Given the description of an element on the screen output the (x, y) to click on. 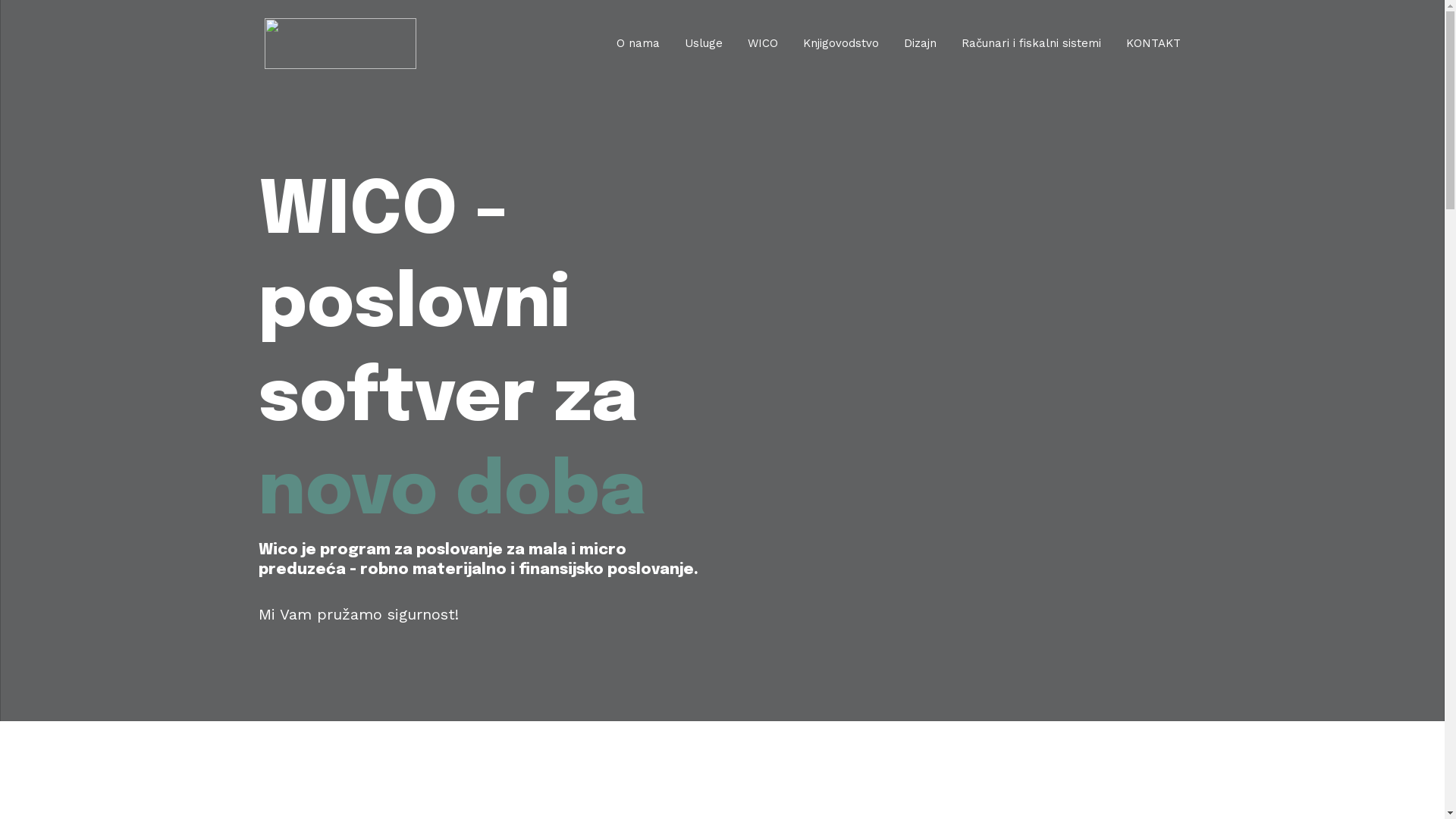
Dizajn Element type: text (919, 43)
KONTAKT Element type: text (1152, 43)
Knjigovodstvo Element type: text (840, 43)
Usluge Element type: text (702, 43)
WICO Element type: text (762, 43)
O nama Element type: text (636, 43)
